Given the description of an element on the screen output the (x, y) to click on. 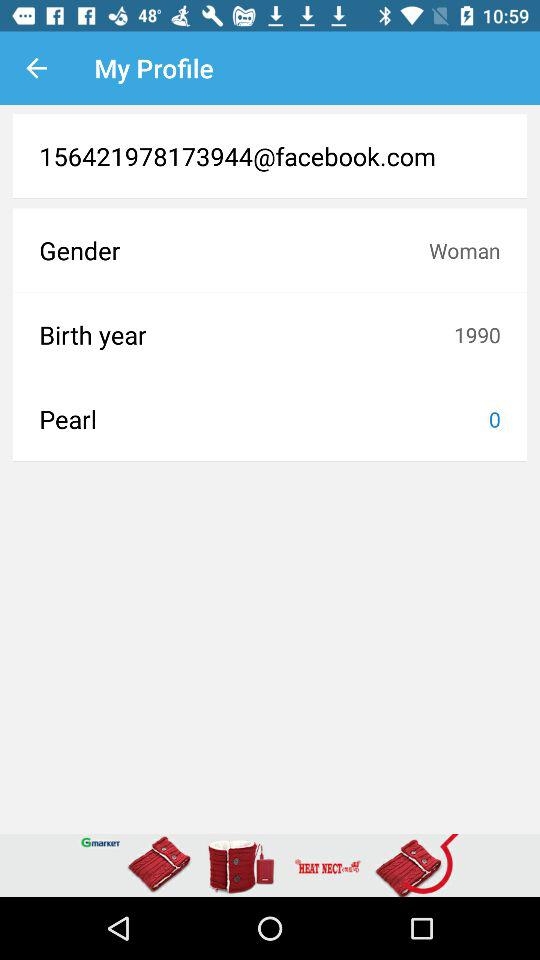
click the item next to the 0 (263, 419)
